Given the description of an element on the screen output the (x, y) to click on. 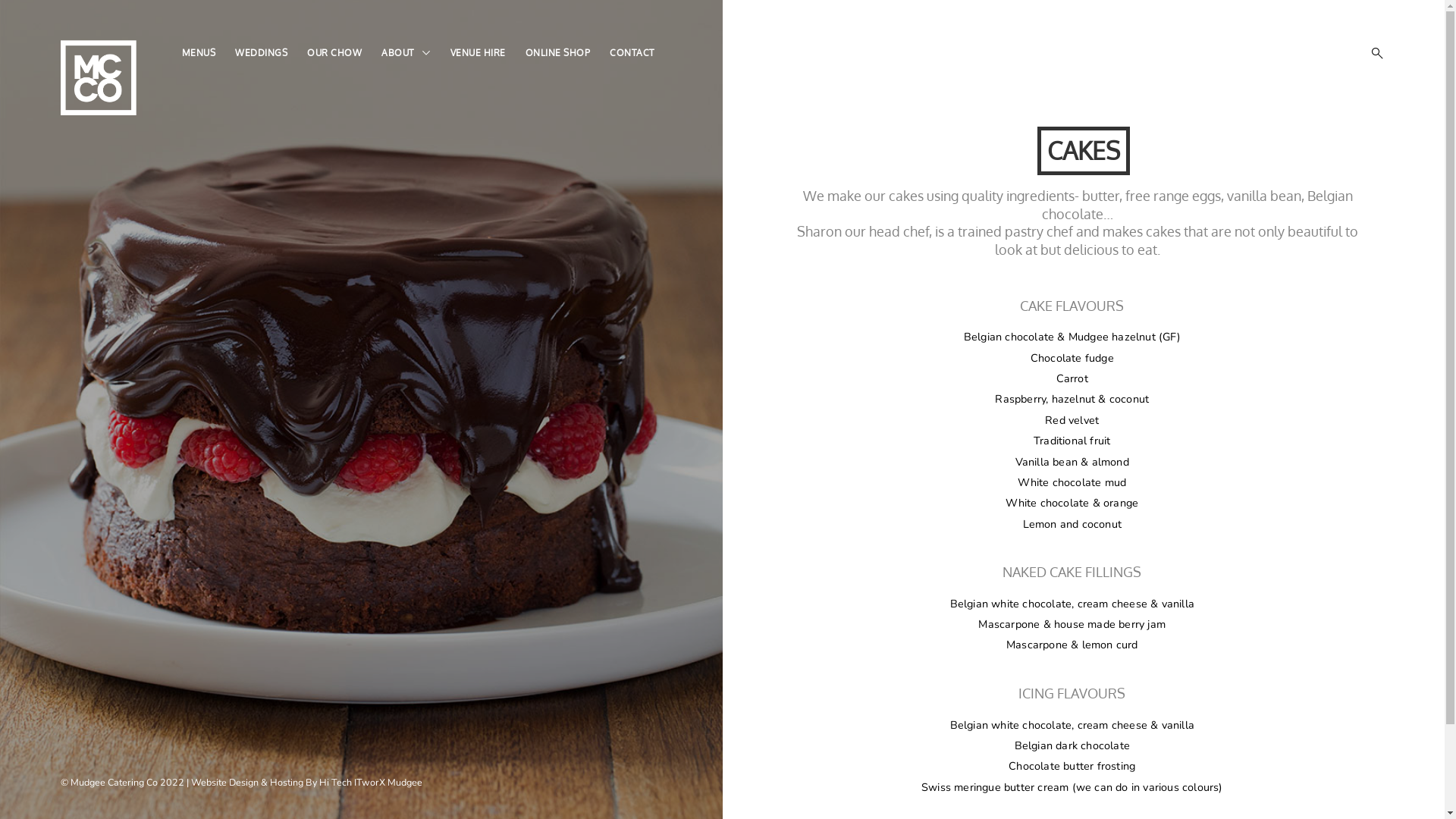
ABOUT Element type: text (397, 52)
MENUS Element type: text (199, 52)
CONTACT Element type: text (631, 52)
VENUE HIRE Element type: text (477, 52)
WEDDINGS Element type: text (261, 52)
OUR CHOW Element type: text (334, 52)
Mudgee Catering Co Element type: text (68, 300)
Search Element type: text (15, 15)
open search form Element type: text (1372, 52)
ONLINE SHOP Element type: text (556, 52)
Skip to content Element type: text (0, 0)
